Given the description of an element on the screen output the (x, y) to click on. 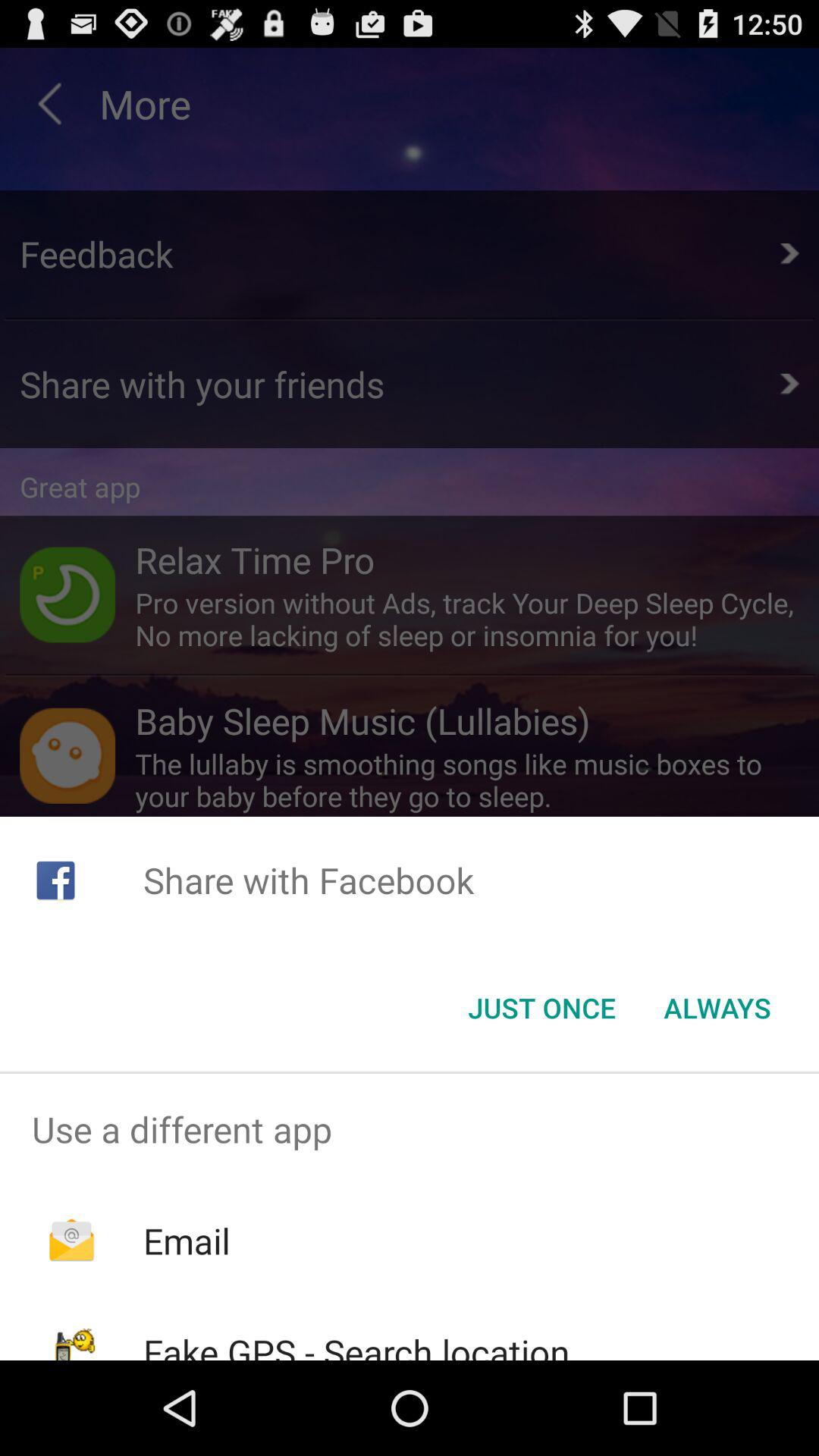
select app above email item (409, 1129)
